Given the description of an element on the screen output the (x, y) to click on. 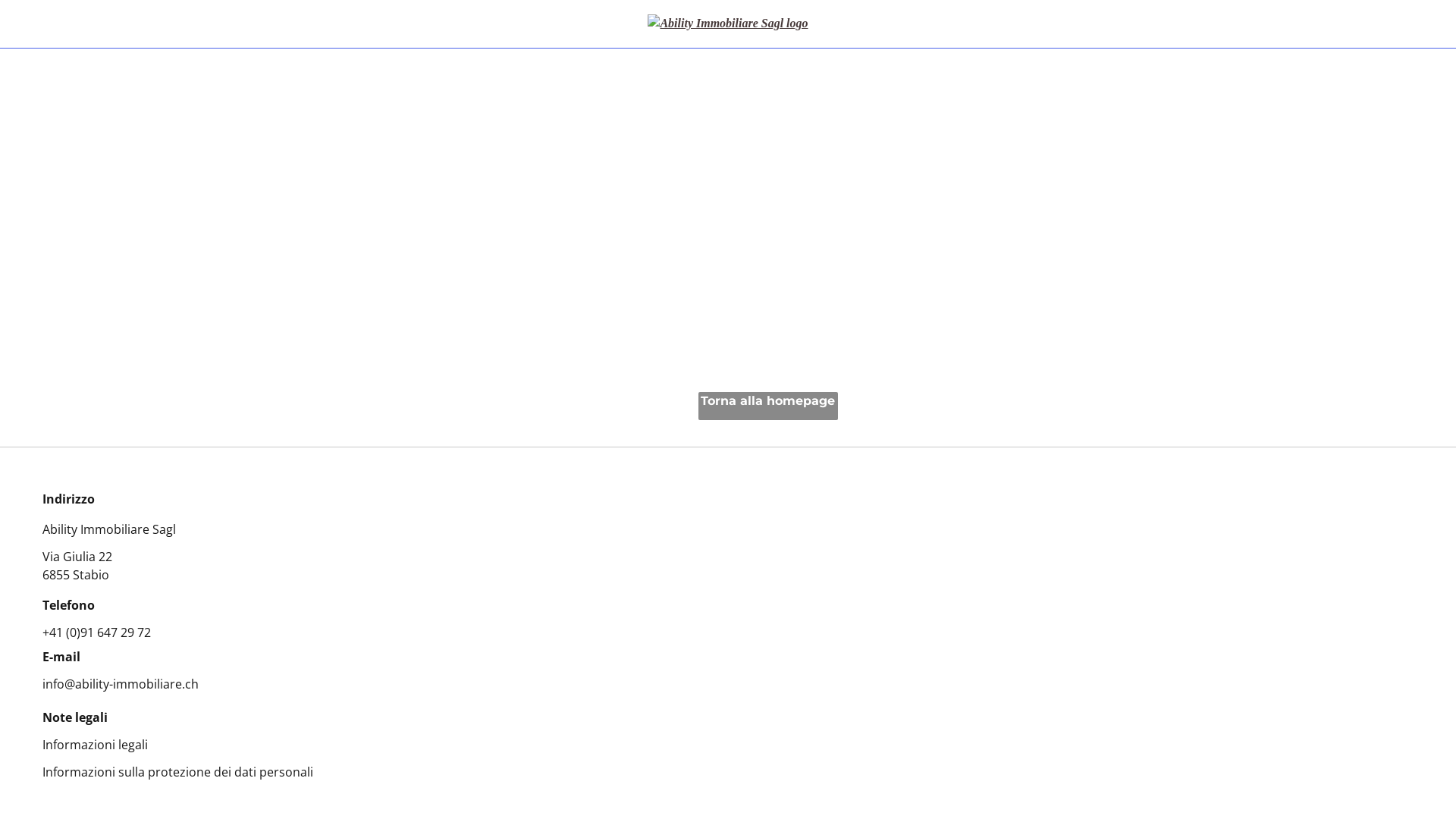
info@ability-immobiliare.ch Element type: text (120, 683)
Torna alla homepage Element type: text (767, 406)
Informazioni legali Element type: text (94, 744)
+41 (0)91 647 29 72 Element type: text (96, 632)
Informazioni sulla protezione dei dati Element type: text (149, 771)
